Given the description of an element on the screen output the (x, y) to click on. 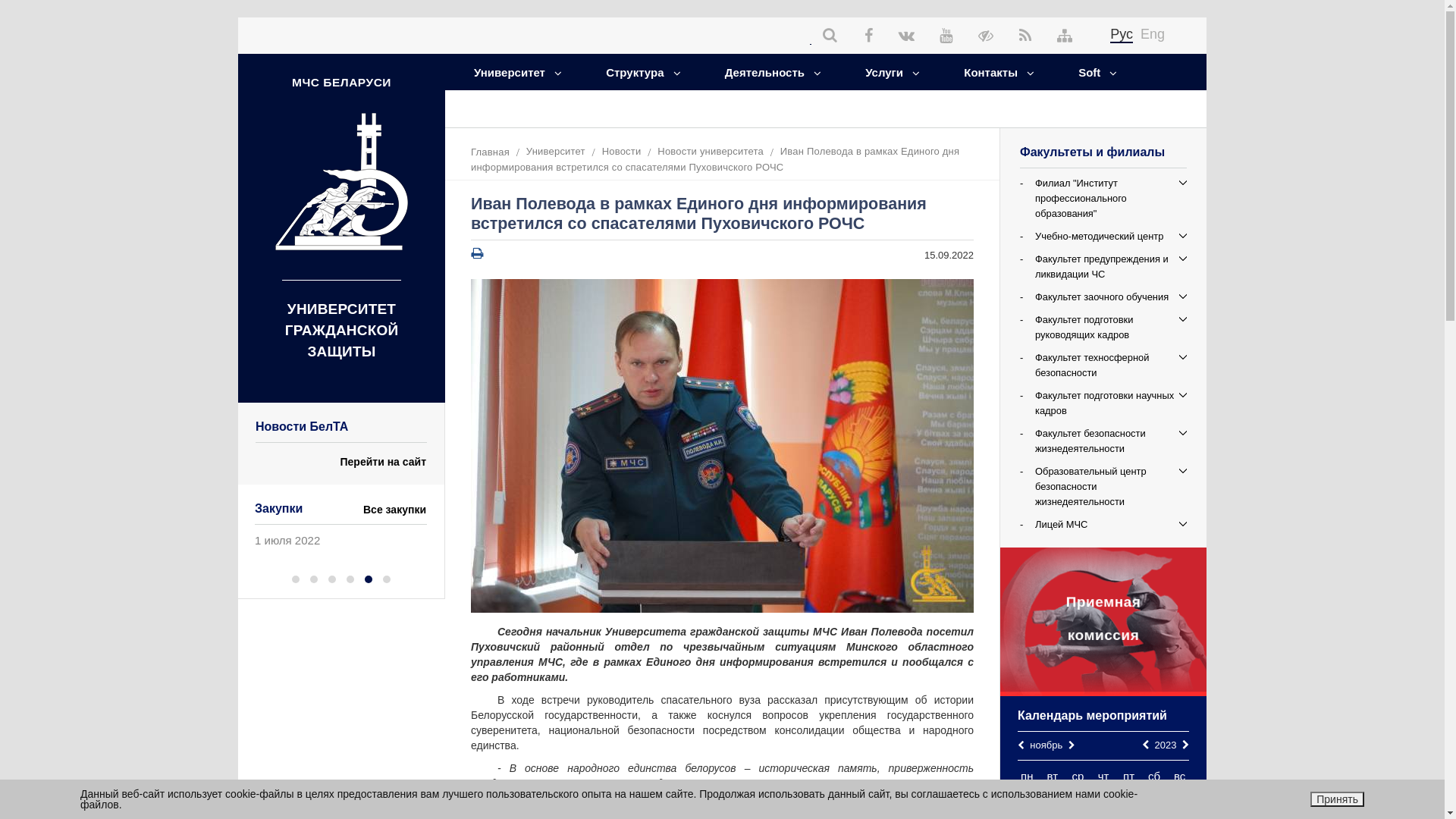
Information Element type: text (506, 108)
Soft Element type: text (1090, 71)
Eng Element type: text (1152, 33)
